Given the description of an element on the screen output the (x, y) to click on. 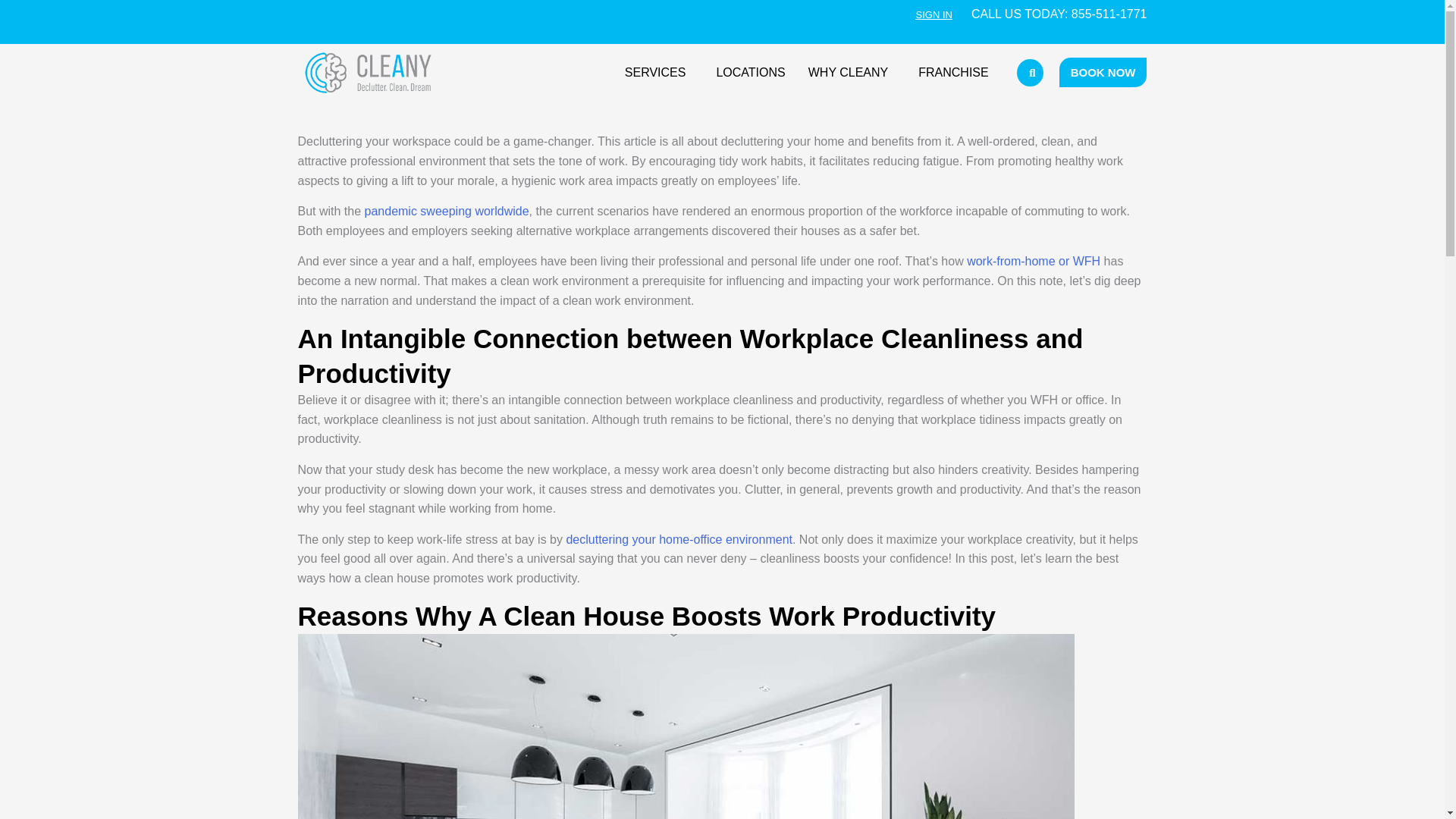
SERVICES (658, 72)
LOCATIONS (750, 72)
FRANCHISE (952, 72)
CALL US TODAY: 855-511-1771 (1059, 14)
pandemic sweeping worldwide (447, 210)
work-from-home or WFH (1033, 260)
WHY CLEANY (851, 72)
BOOK NOW (1103, 71)
SIGN IN (934, 14)
